Given the description of an element on the screen output the (x, y) to click on. 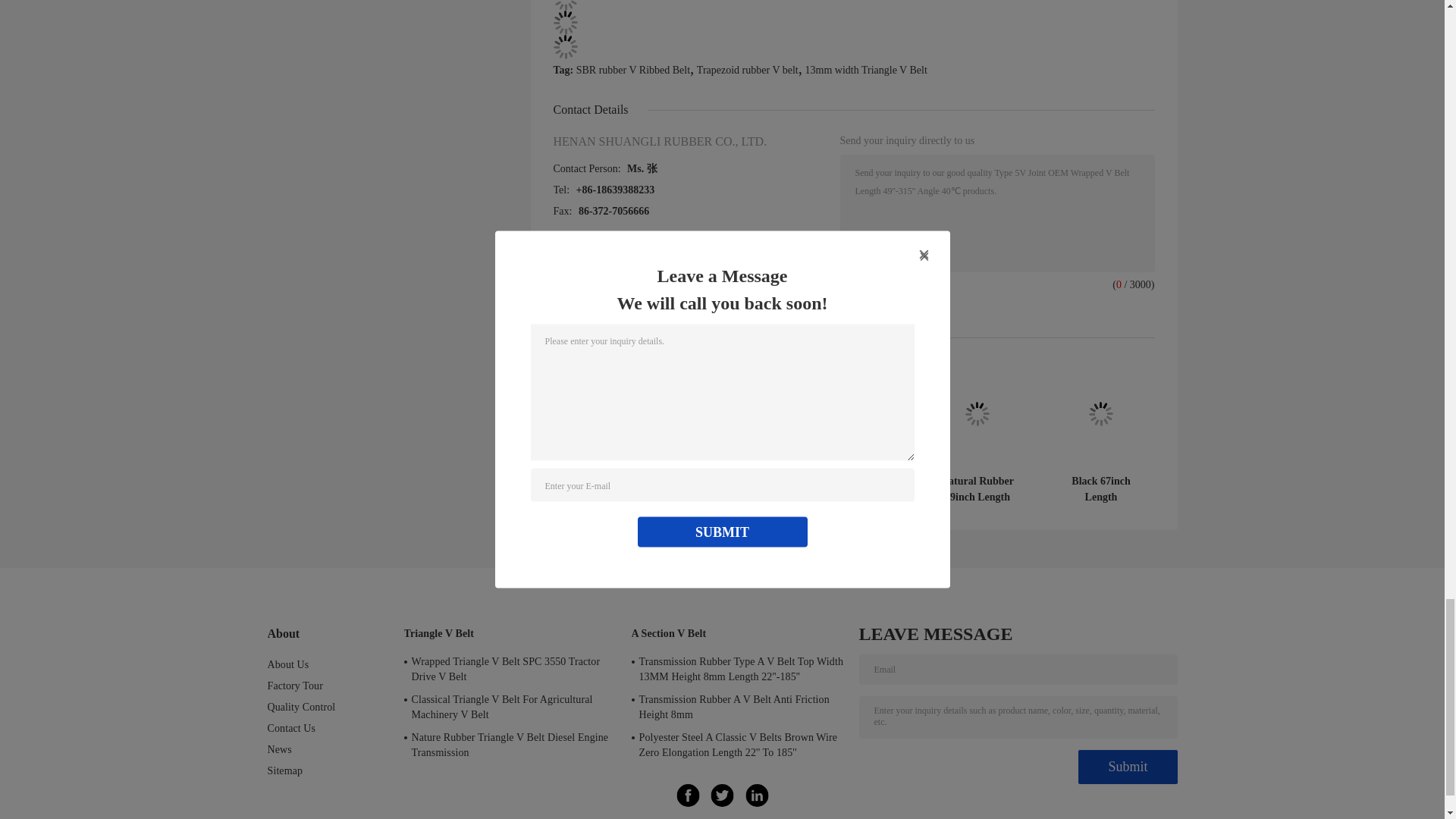
Submit (1127, 766)
Contact Now (886, 302)
